Given the description of an element on the screen output the (x, y) to click on. 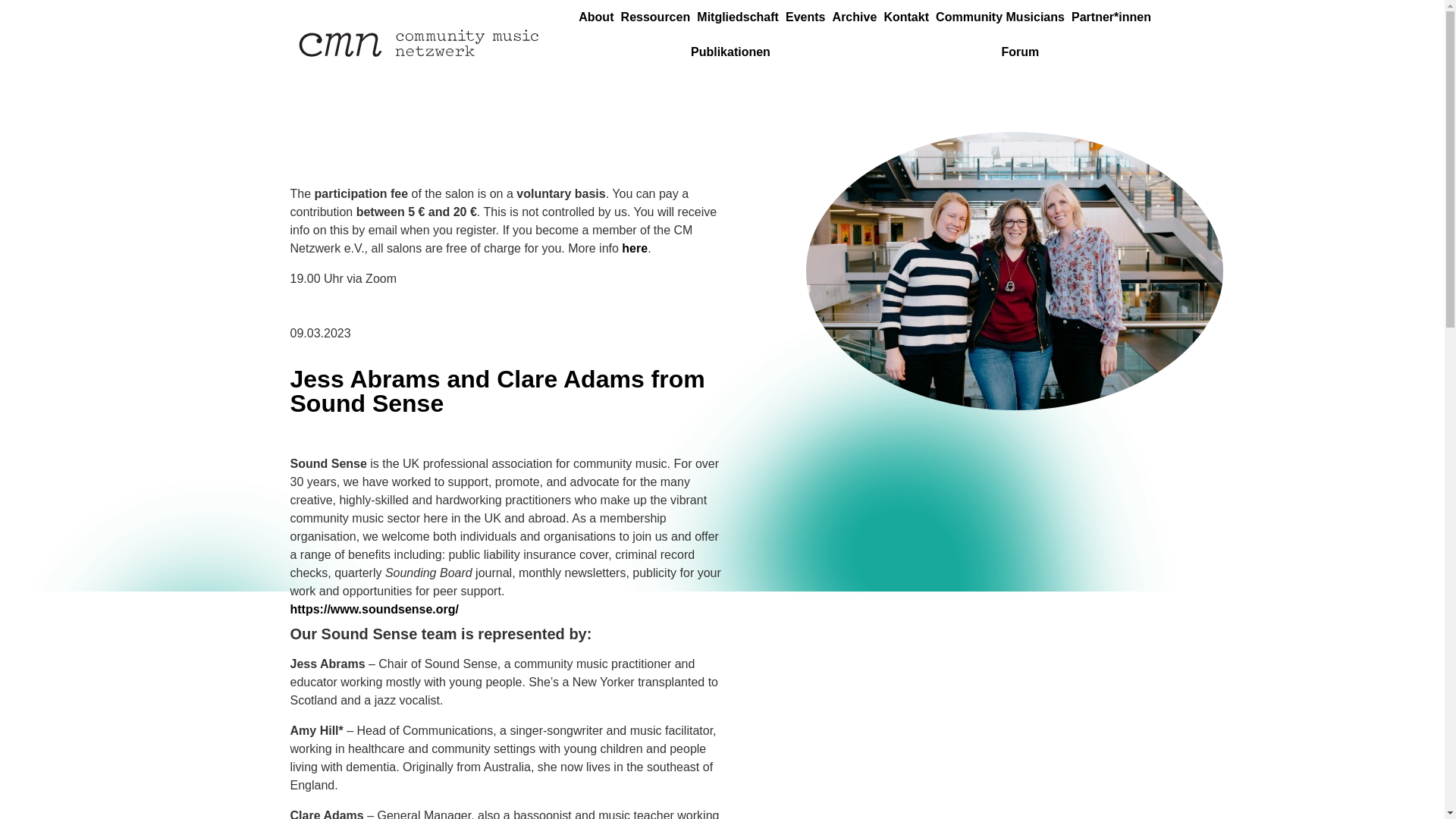
Events (804, 17)
Forum (1019, 52)
Mitgliedschaft (738, 17)
Community Musicians (1000, 17)
Publikationen (730, 52)
Kontakt (906, 17)
Ressourcen (655, 17)
Archive (854, 17)
About (596, 17)
